Given the description of an element on the screen output the (x, y) to click on. 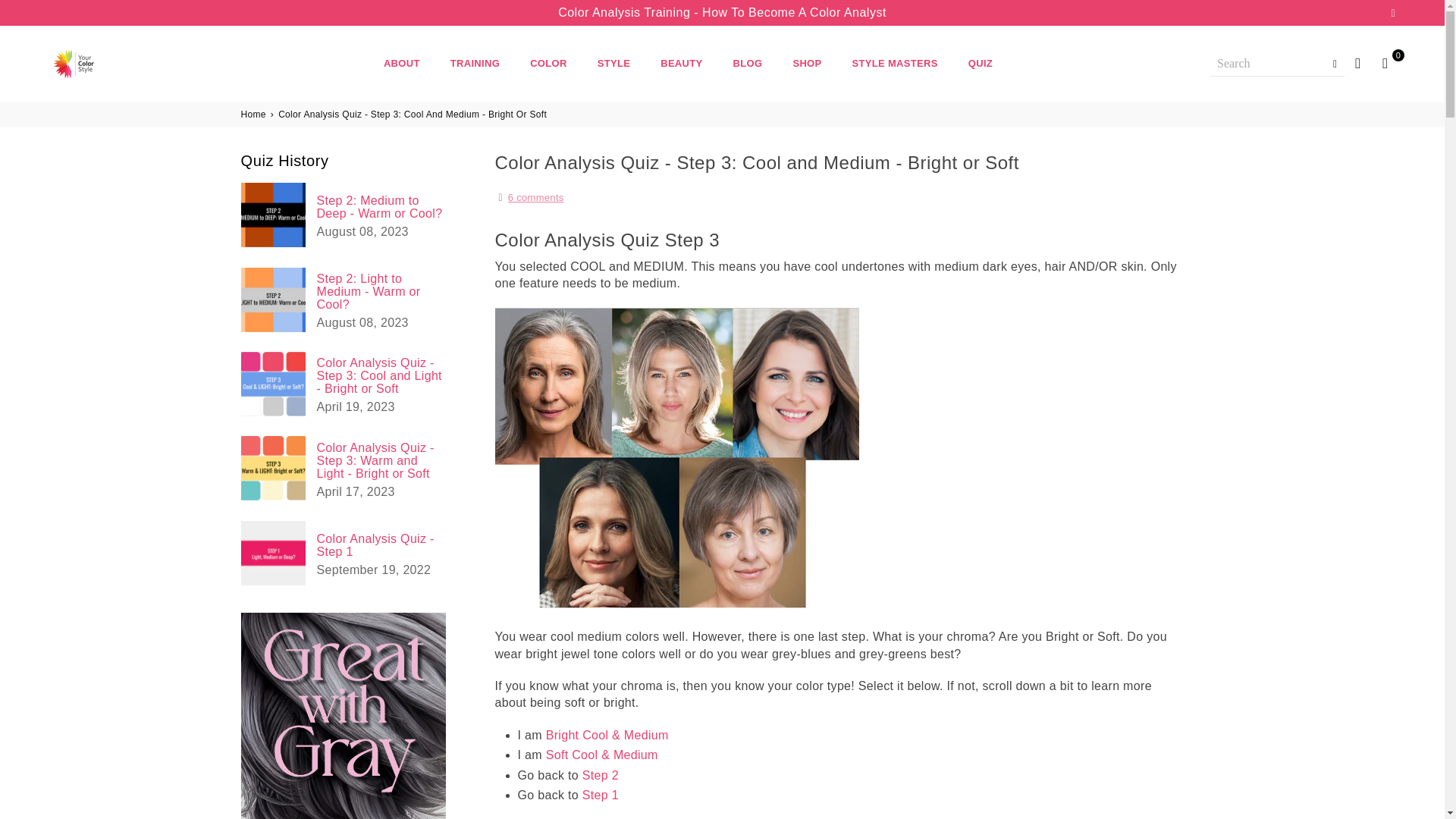
Color Analysis Training - How To Become A Color Analyst (721, 12)
BLOG (748, 63)
TRAINING (475, 63)
YOUR COLOR STYLE (109, 63)
SHOP (806, 63)
Back to the home page (254, 114)
Settings (1357, 62)
STYLE MASTERS (895, 63)
Cart (1385, 62)
COLOR (548, 63)
STYLE (614, 63)
Soft Cool and Medium Explained (602, 755)
BEAUTY (681, 63)
ABOUT (401, 63)
